Given the description of an element on the screen output the (x, y) to click on. 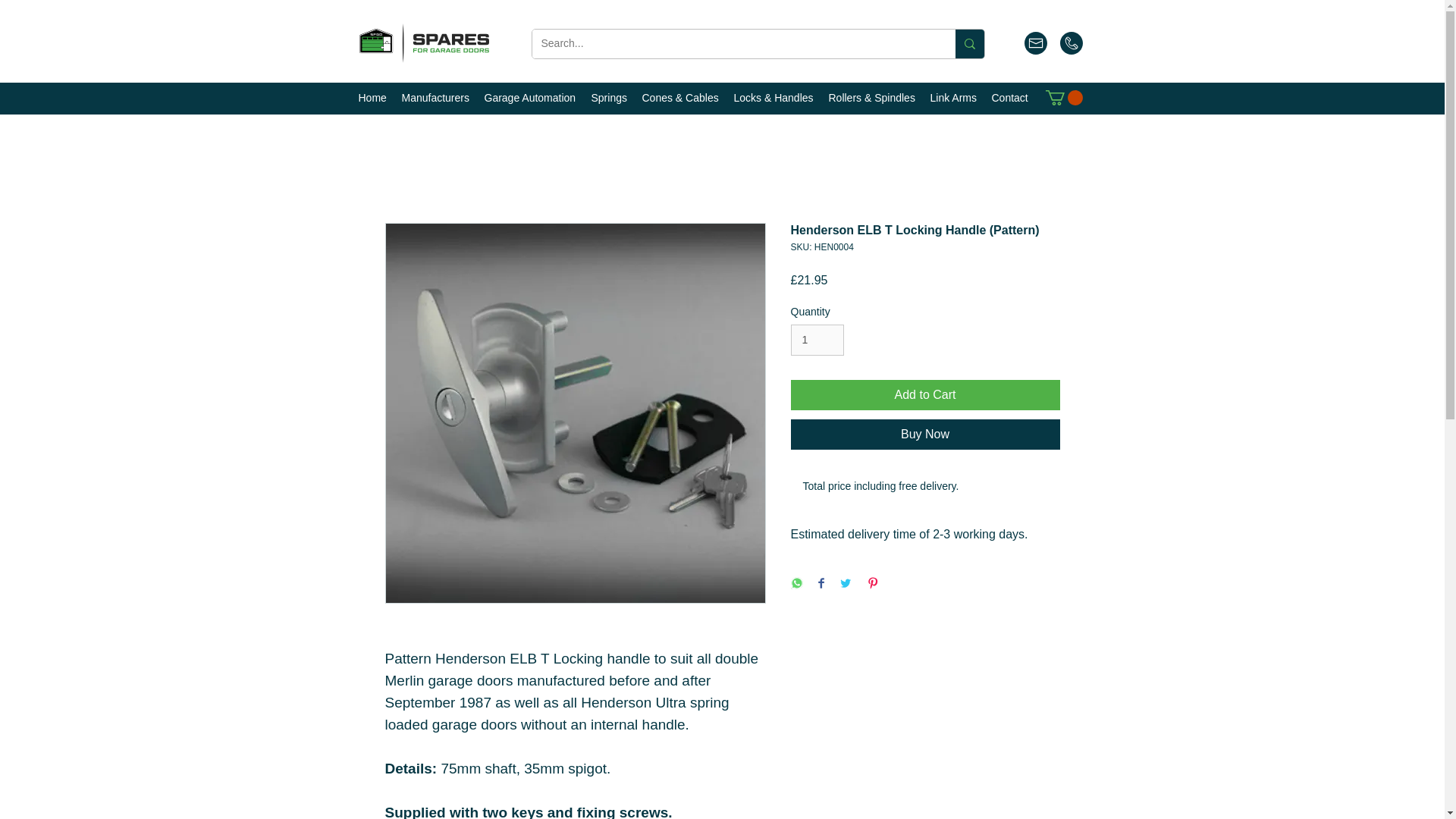
Use right and left arrows to navigate between tabs (880, 487)
Manufacturers (435, 97)
Garage Automation (529, 97)
1 (817, 339)
Home (371, 97)
Springs (608, 97)
